Given the description of an element on the screen output the (x, y) to click on. 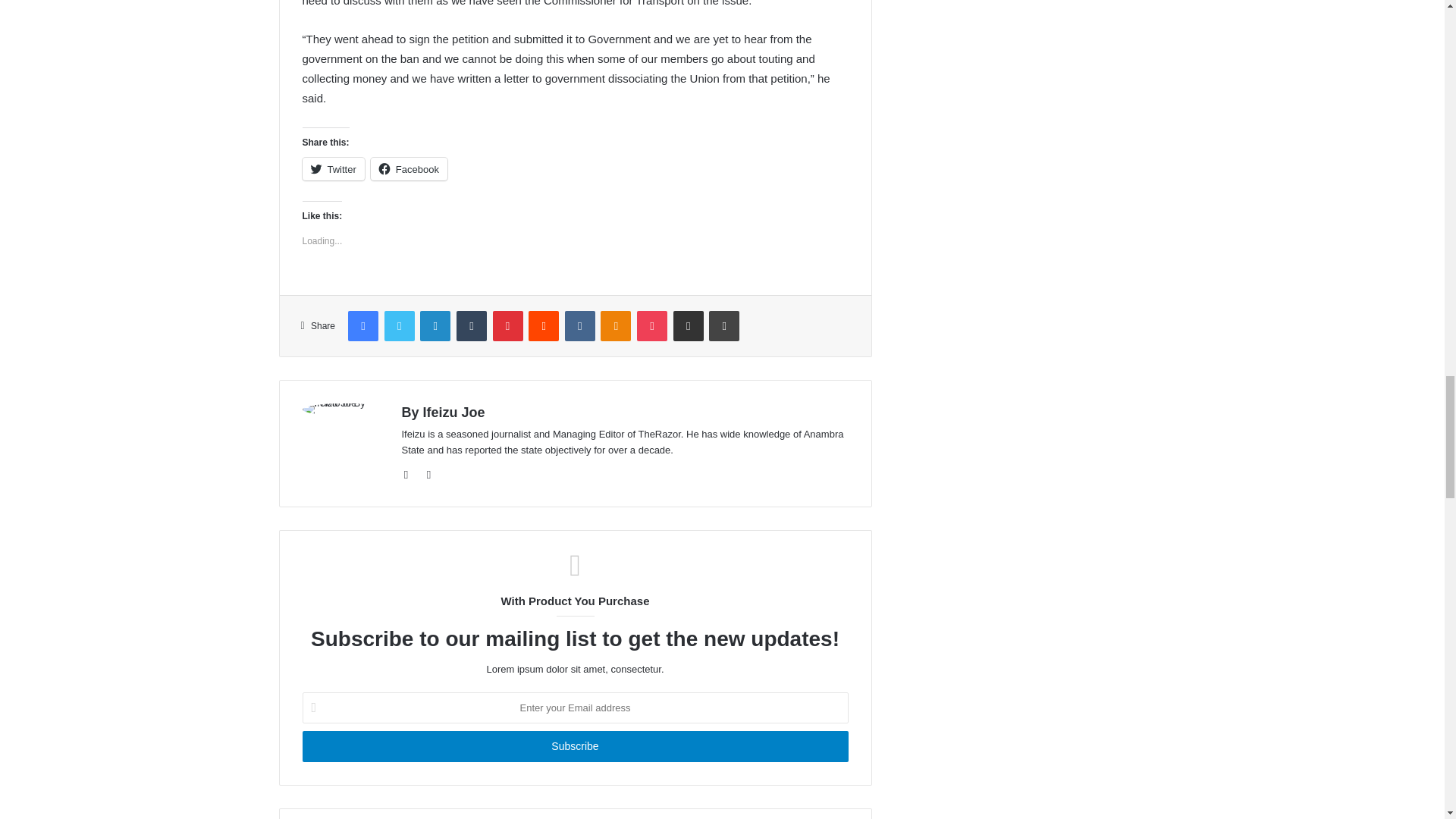
Facebook (408, 169)
Subscribe (574, 746)
Twitter (332, 169)
